Given the description of an element on the screen output the (x, y) to click on. 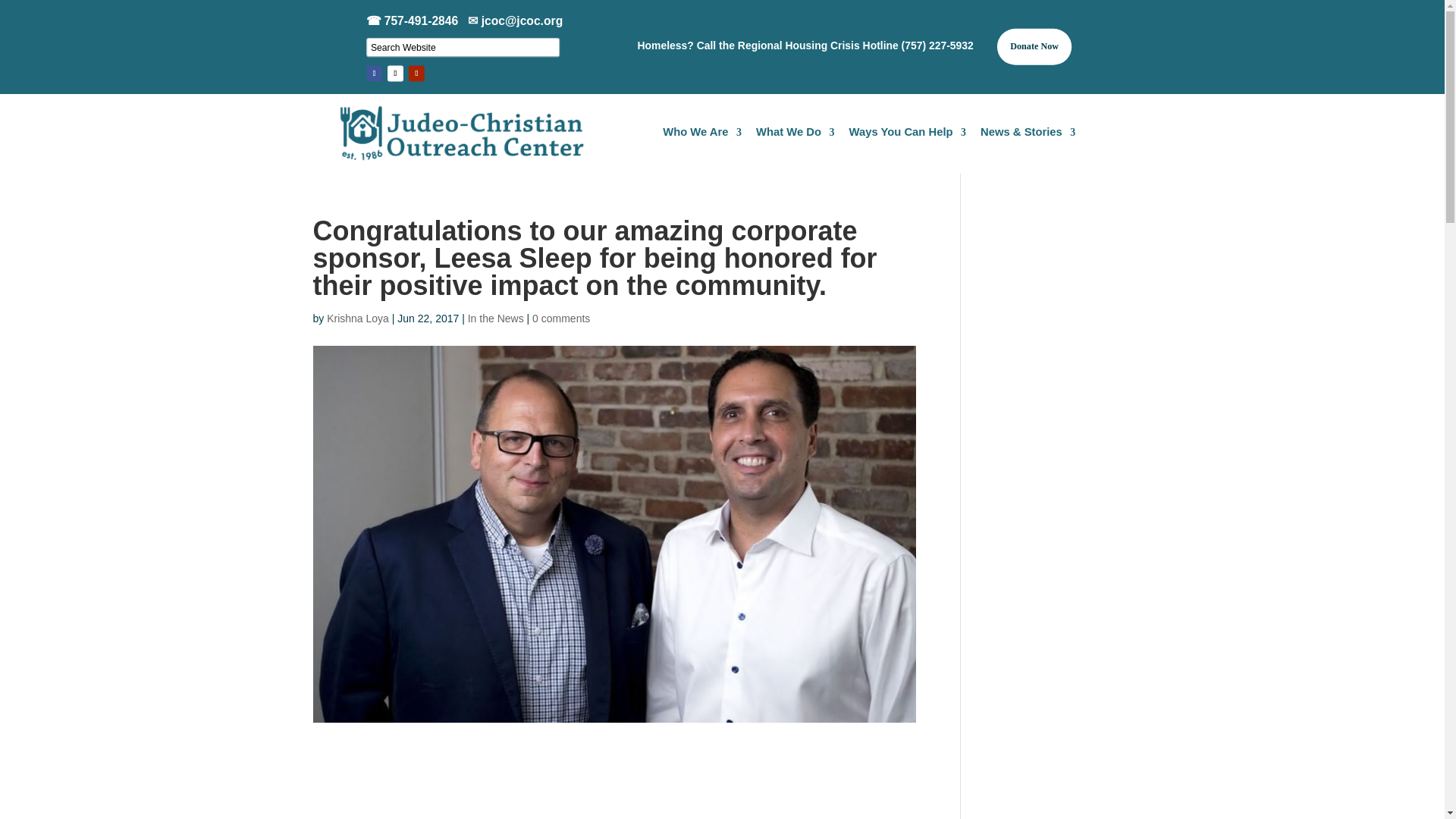
Follow on X (396, 74)
Search (24, 13)
What We Do (800, 135)
Follow on Facebook (375, 74)
Krishna Loya (357, 318)
Follow on Youtube (416, 74)
0 comments (560, 318)
JCOC Text Plate Est (480, 137)
Donate Now (1039, 49)
Who We Are (707, 135)
